Given the description of an element on the screen output the (x, y) to click on. 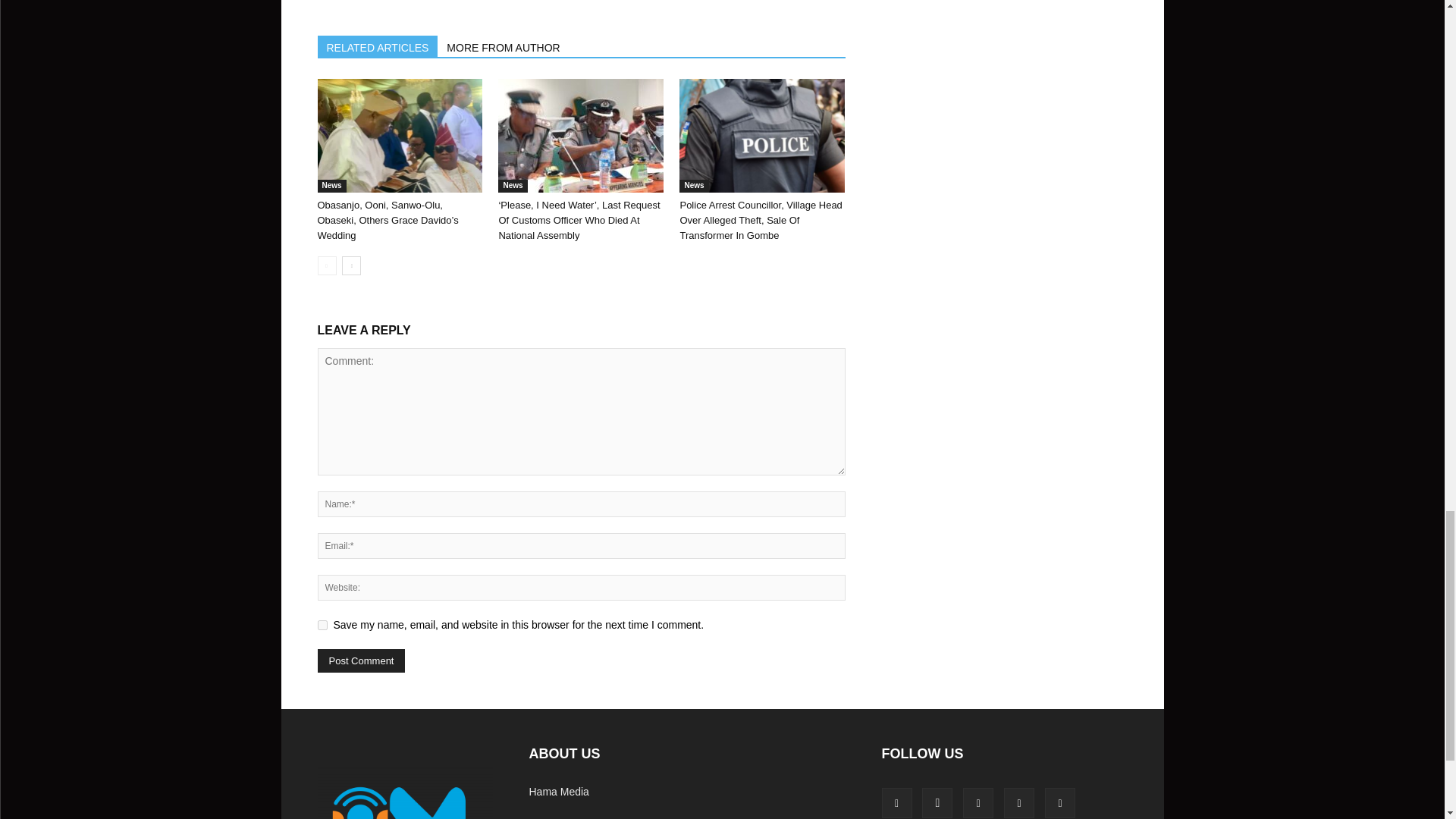
Post Comment (360, 660)
yes (321, 624)
